Given the description of an element on the screen output the (x, y) to click on. 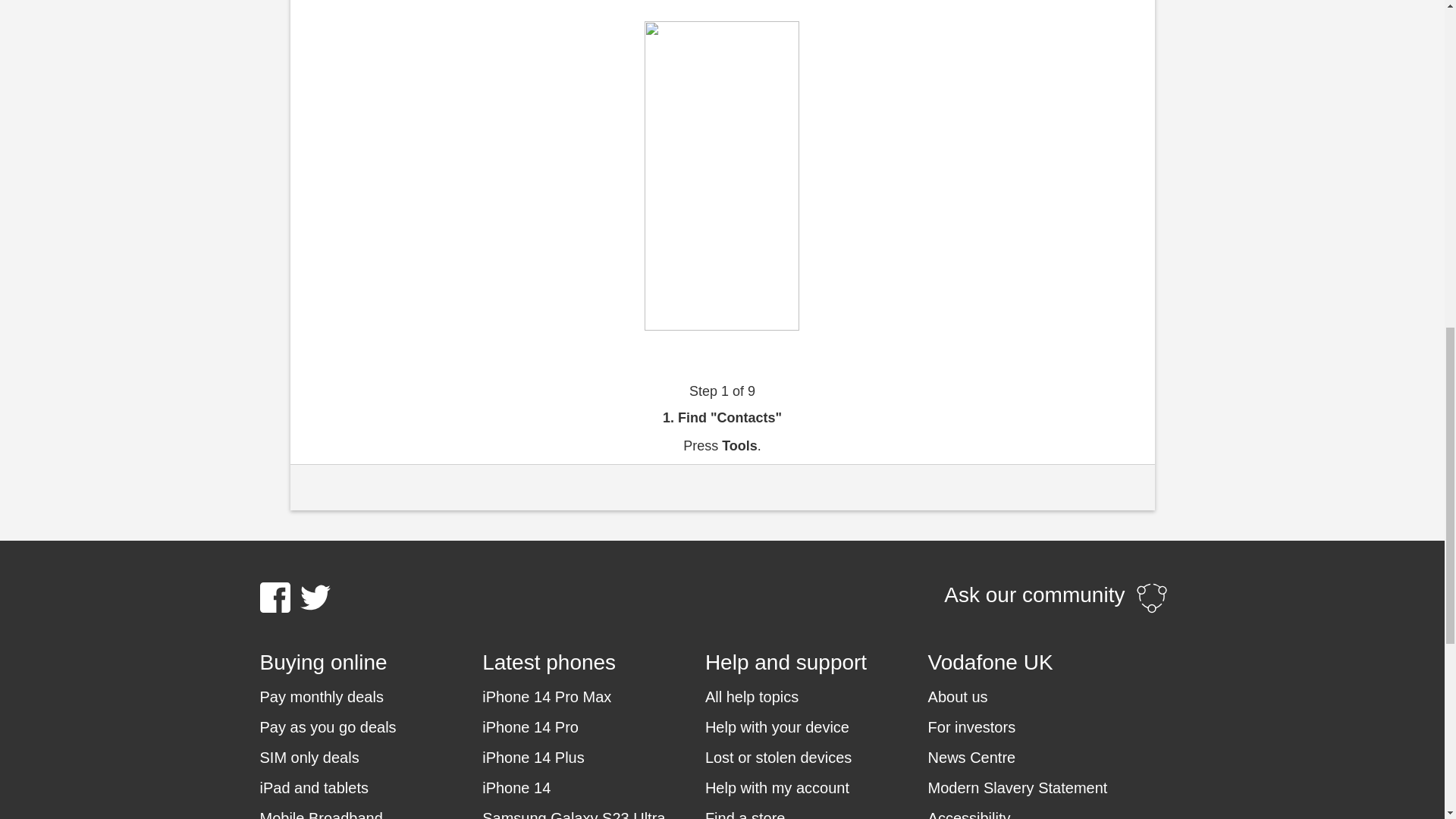
Facebook (274, 597)
SIM only deals (308, 757)
iPad and tablets (313, 787)
Twitter (314, 597)
Pay monthly deals (320, 696)
Ask our community (1055, 597)
Mobile Broadband (320, 813)
Pay as you go deals (327, 727)
Buying online (370, 662)
